Given the description of an element on the screen output the (x, y) to click on. 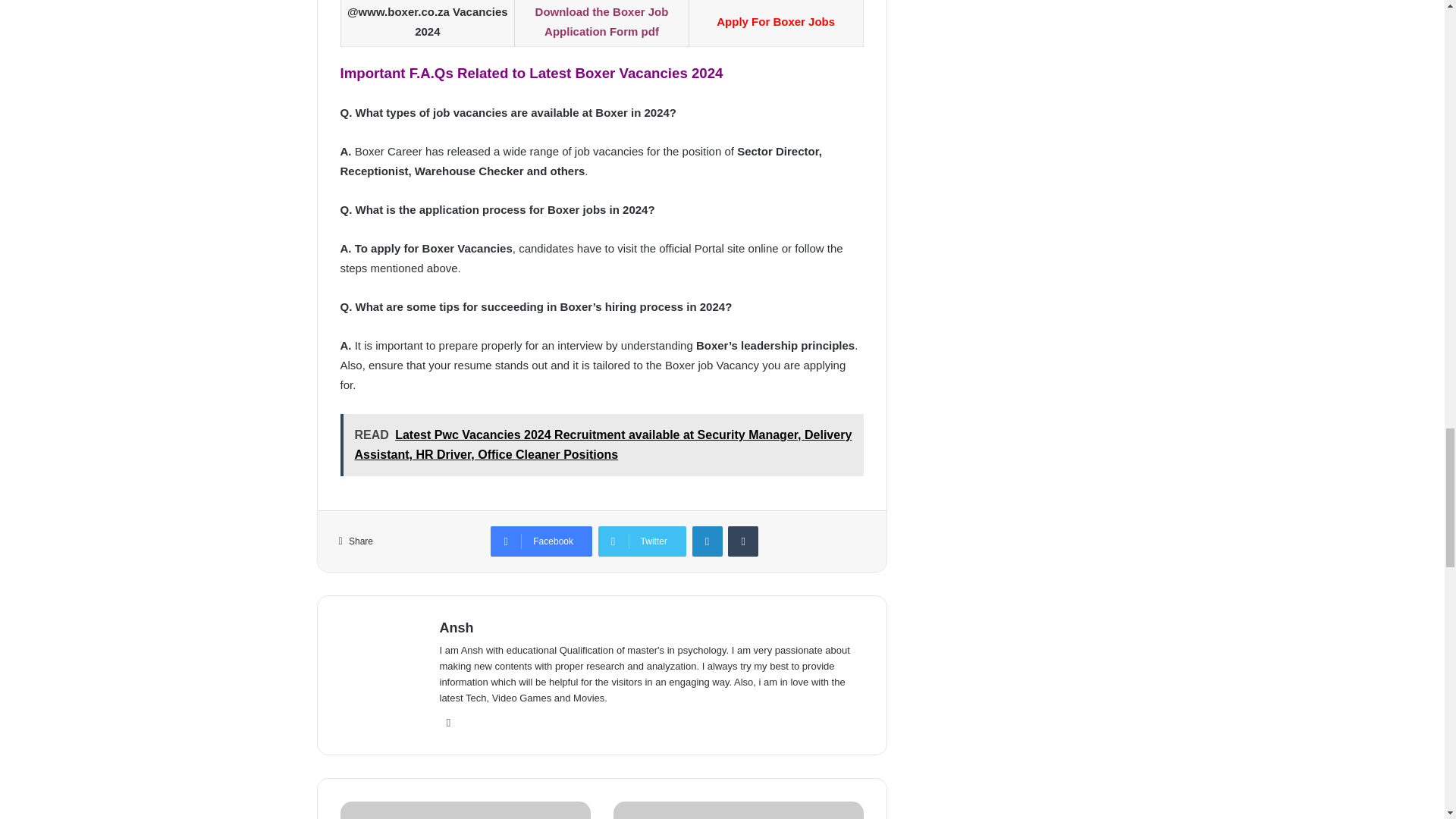
LinkedIn (707, 541)
Ansh (456, 627)
Tumblr (743, 541)
LinkedIn (707, 541)
Tumblr (743, 541)
Twitter (448, 722)
Apply For Boxer Jobs (775, 21)
Twitter (641, 541)
Twitter (641, 541)
Facebook (541, 541)
Facebook (541, 541)
Download the Boxer Job Application Form pdf (601, 20)
